Given the description of an element on the screen output the (x, y) to click on. 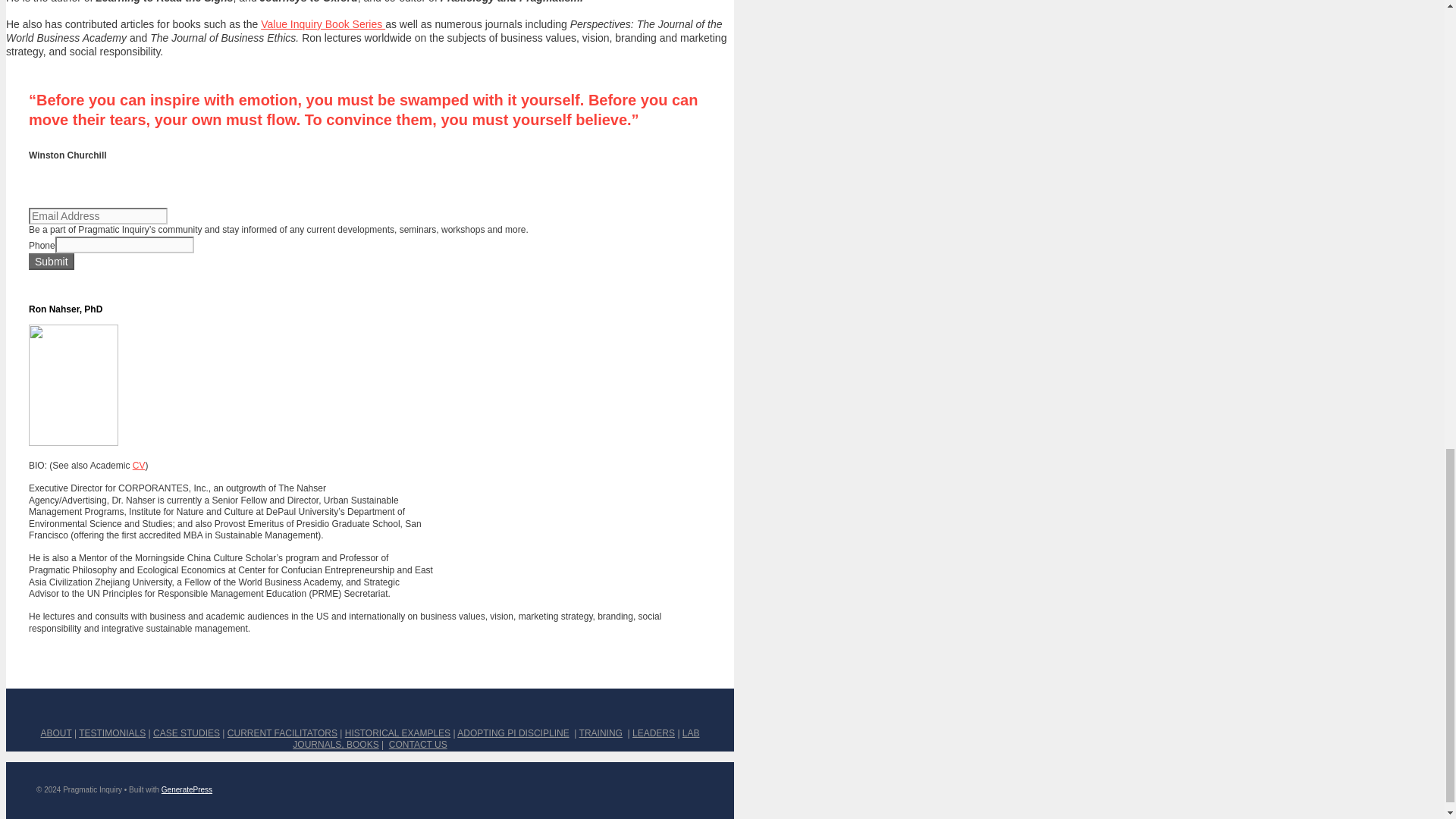
TESTIMONIALS (111, 733)
Submit (51, 261)
CV (138, 465)
CASE STUDIES (185, 733)
Value Inquiry Book Series (322, 24)
ABOUT (55, 733)
